Given the description of an element on the screen output the (x, y) to click on. 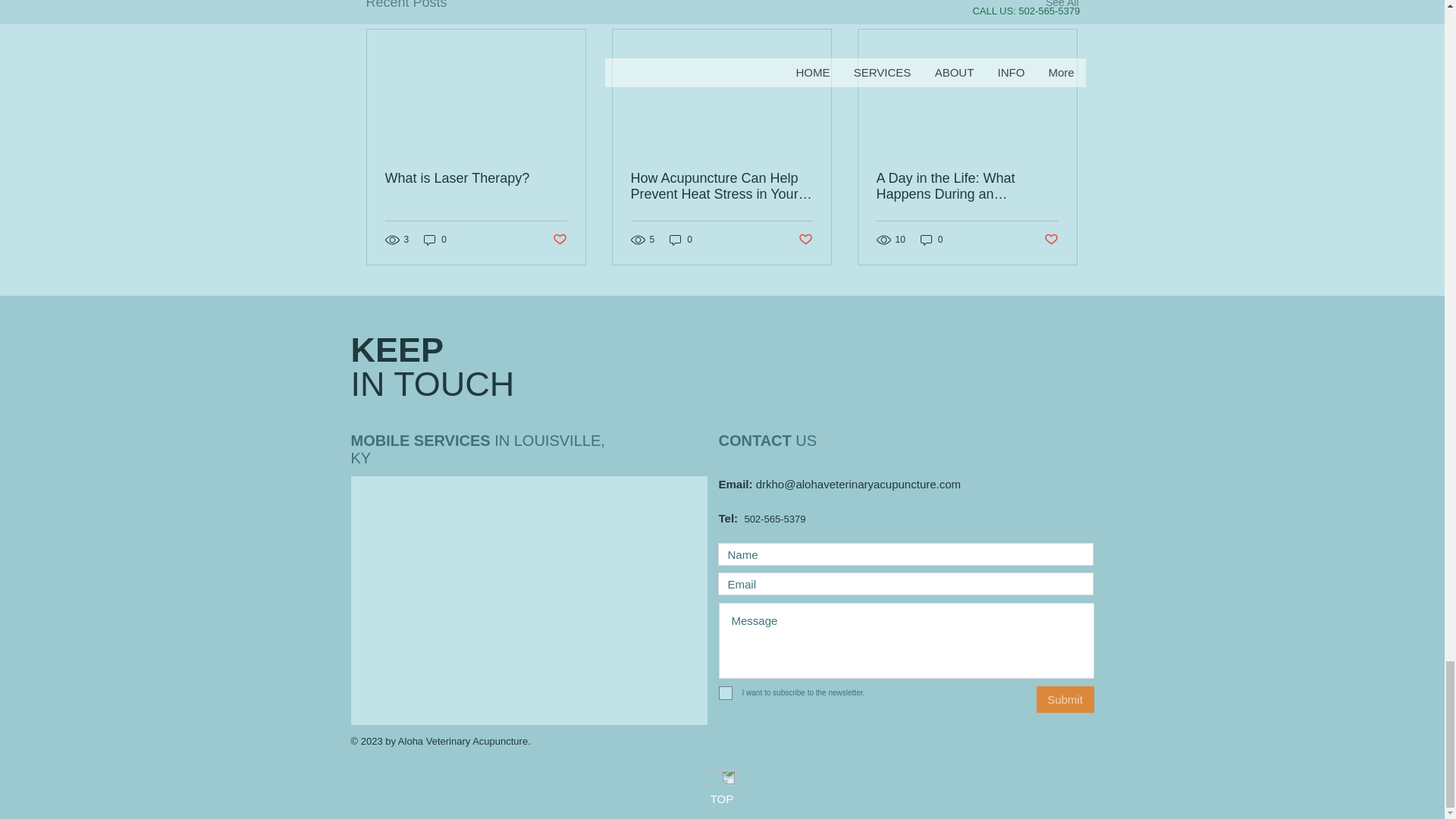
What is Laser Therapy? (476, 178)
How Acupuncture Can Help Prevent Heat Stress in Your Pet (721, 186)
0 (931, 239)
0 (435, 239)
0 (681, 239)
Post not marked as liked (1050, 239)
Post not marked as liked (558, 239)
See All (1061, 6)
Post not marked as liked (804, 239)
